Given the description of an element on the screen output the (x, y) to click on. 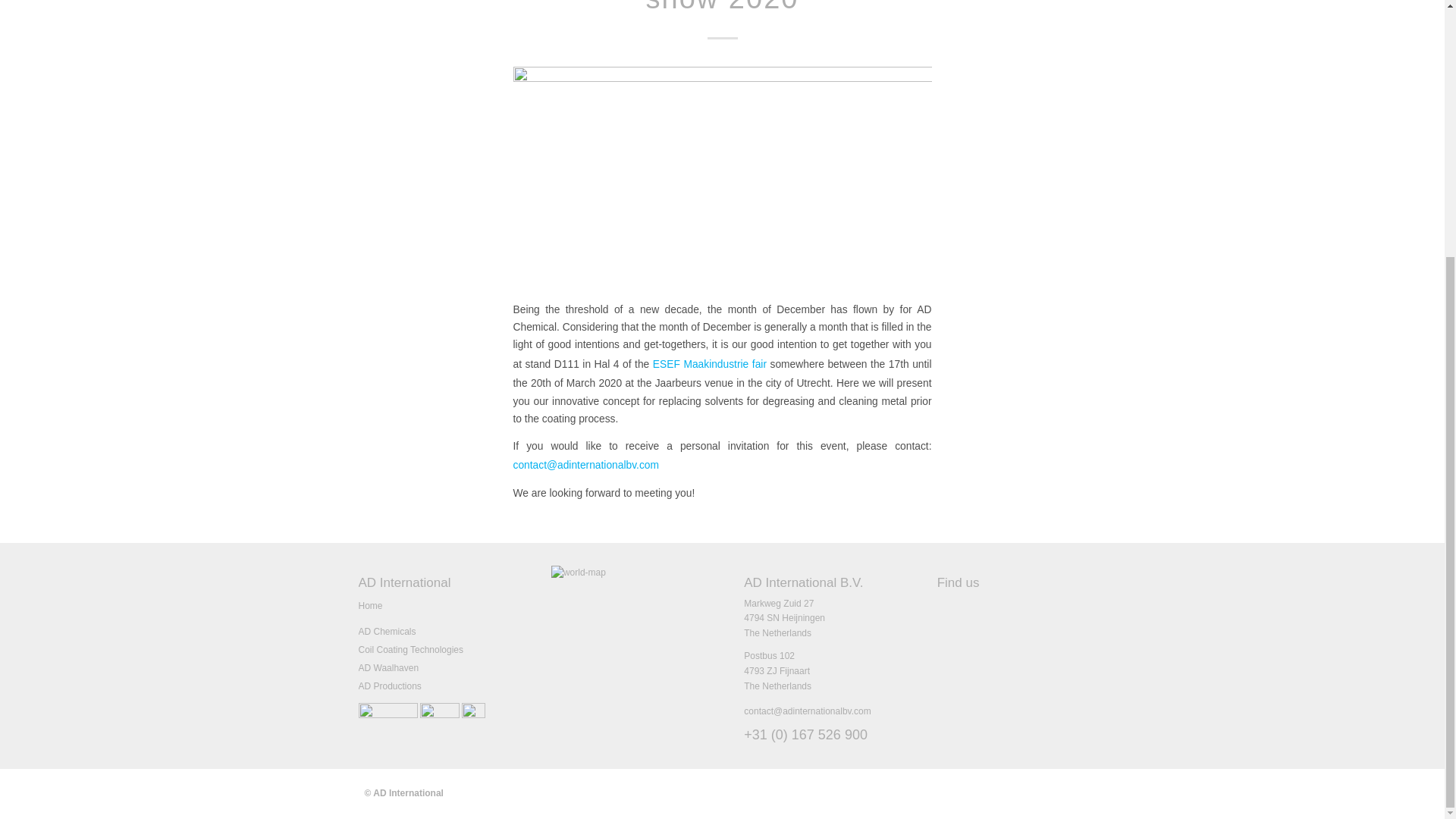
Meet AD Chemicals at the ESEF Maakindustrie trade show 2020 (721, 7)
Home (369, 605)
ESEF Maakindustrie fair (709, 364)
